Given the description of an element on the screen output the (x, y) to click on. 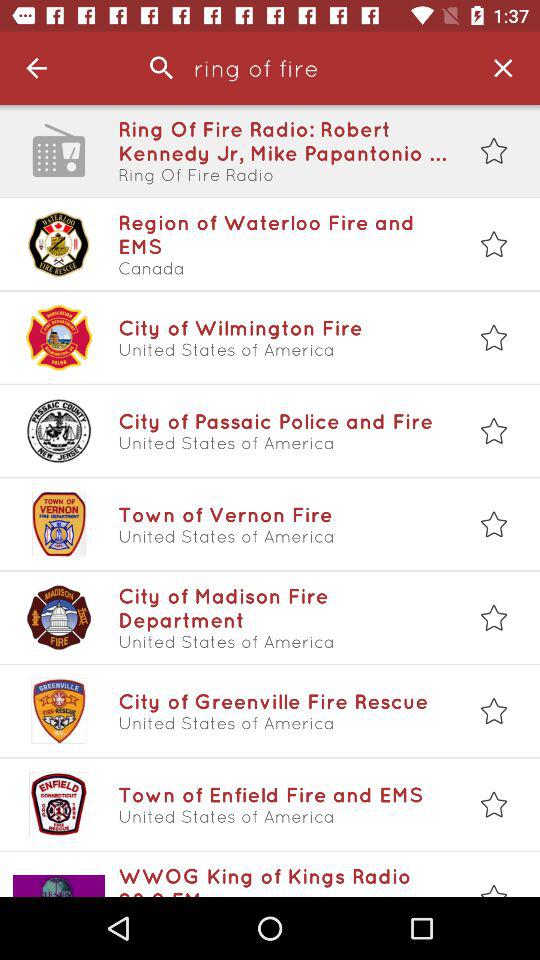
open item to the right of ring of fire icon (502, 67)
